Given the description of an element on the screen output the (x, y) to click on. 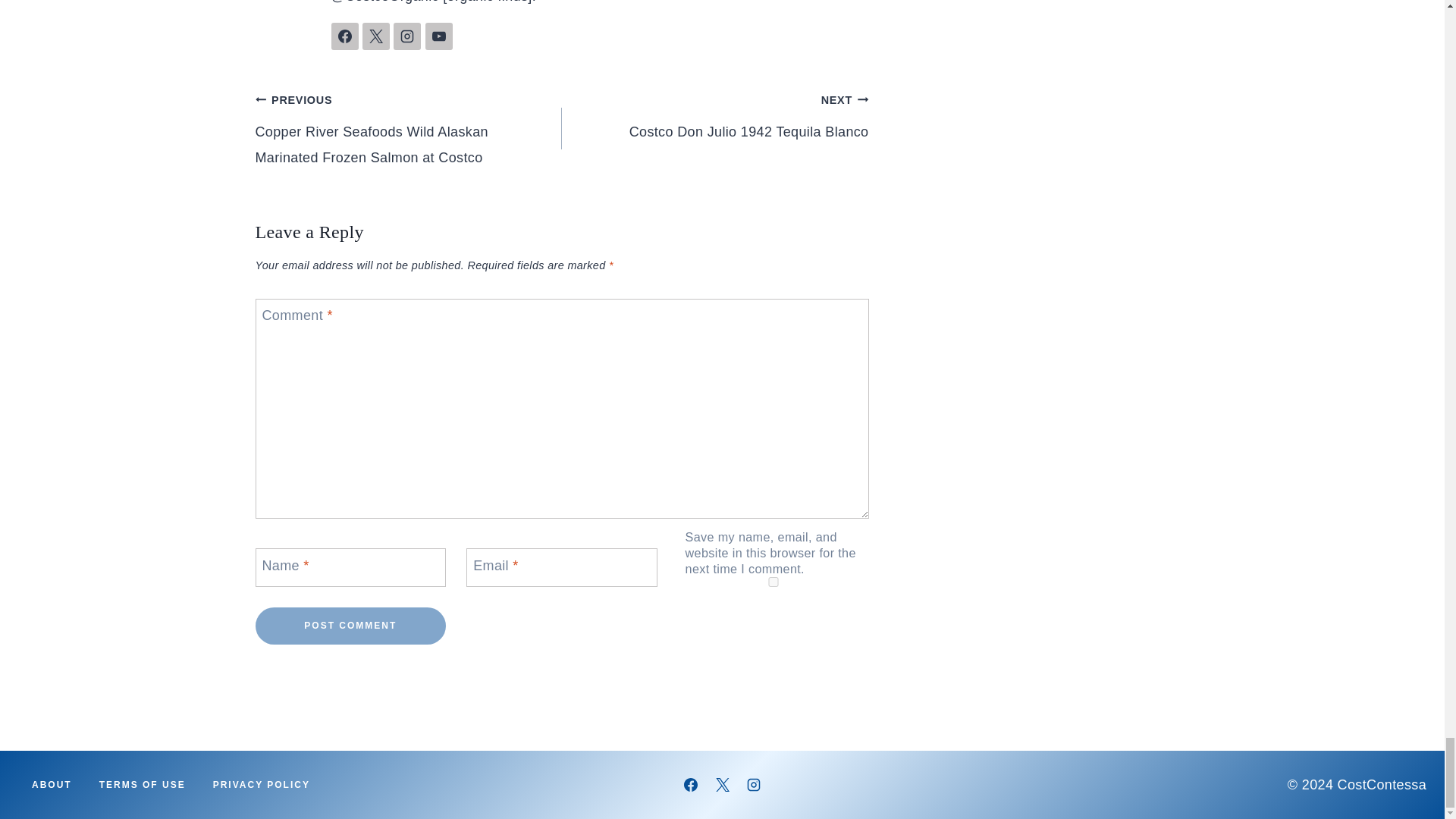
Follow Marie on Facebook (344, 35)
Follow Marie on X formerly Twitter (376, 35)
Post Comment (349, 625)
Follow Marie on Instagram (406, 35)
yes (773, 582)
